Given the description of an element on the screen output the (x, y) to click on. 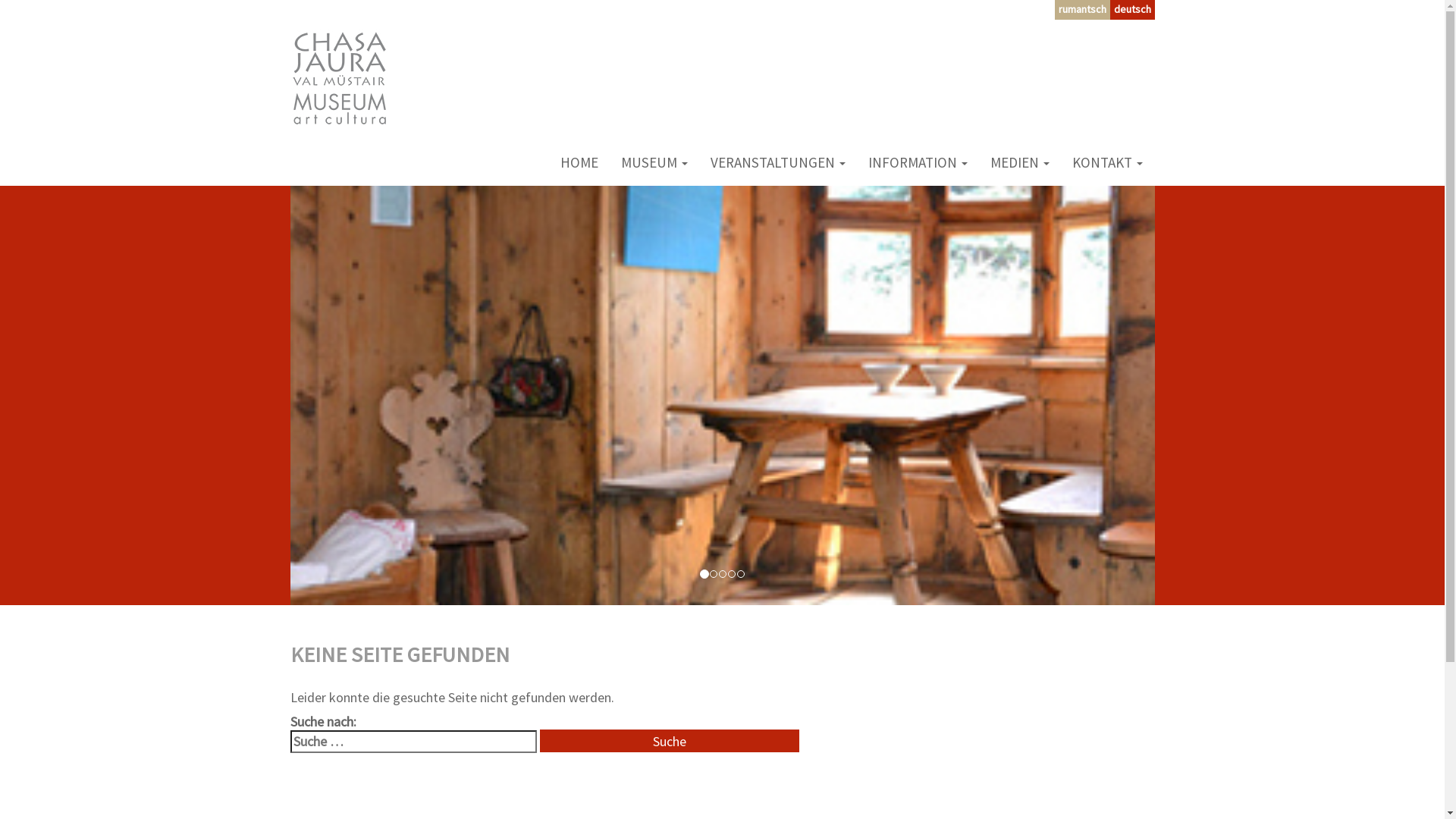
HOME Element type: text (579, 162)
INFORMATION Element type: text (917, 162)
MUSEUM Element type: text (654, 162)
Suche Element type: text (669, 740)
VERANSTALTUNGEN Element type: text (777, 162)
KONTAKT Element type: text (1106, 162)
MEDIEN Element type: text (1019, 162)
